Given the description of an element on the screen output the (x, y) to click on. 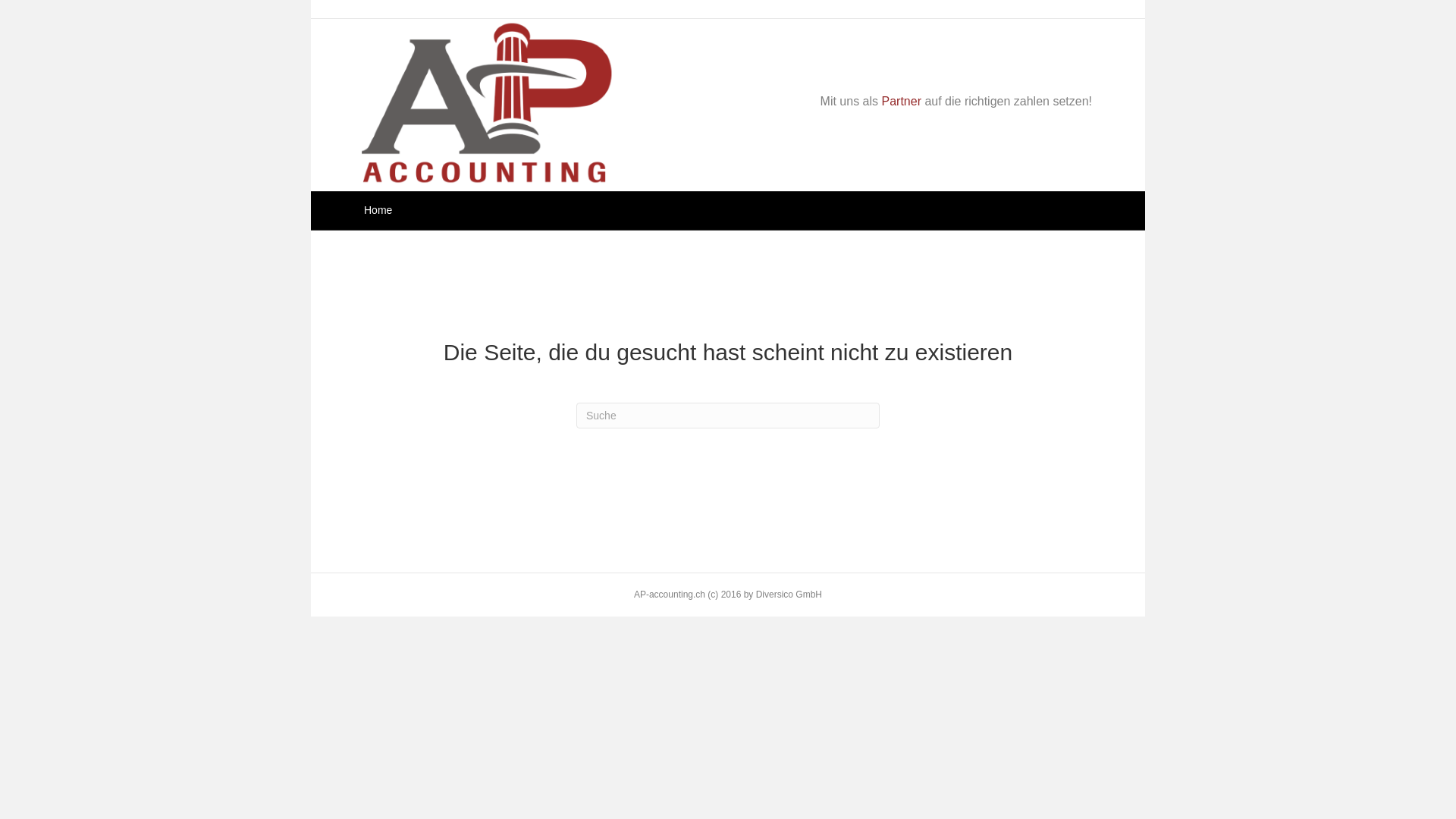
Home Element type: text (377, 210)
Suchbegriff hier eingeben ... Element type: hover (727, 415)
